Given the description of an element on the screen output the (x, y) to click on. 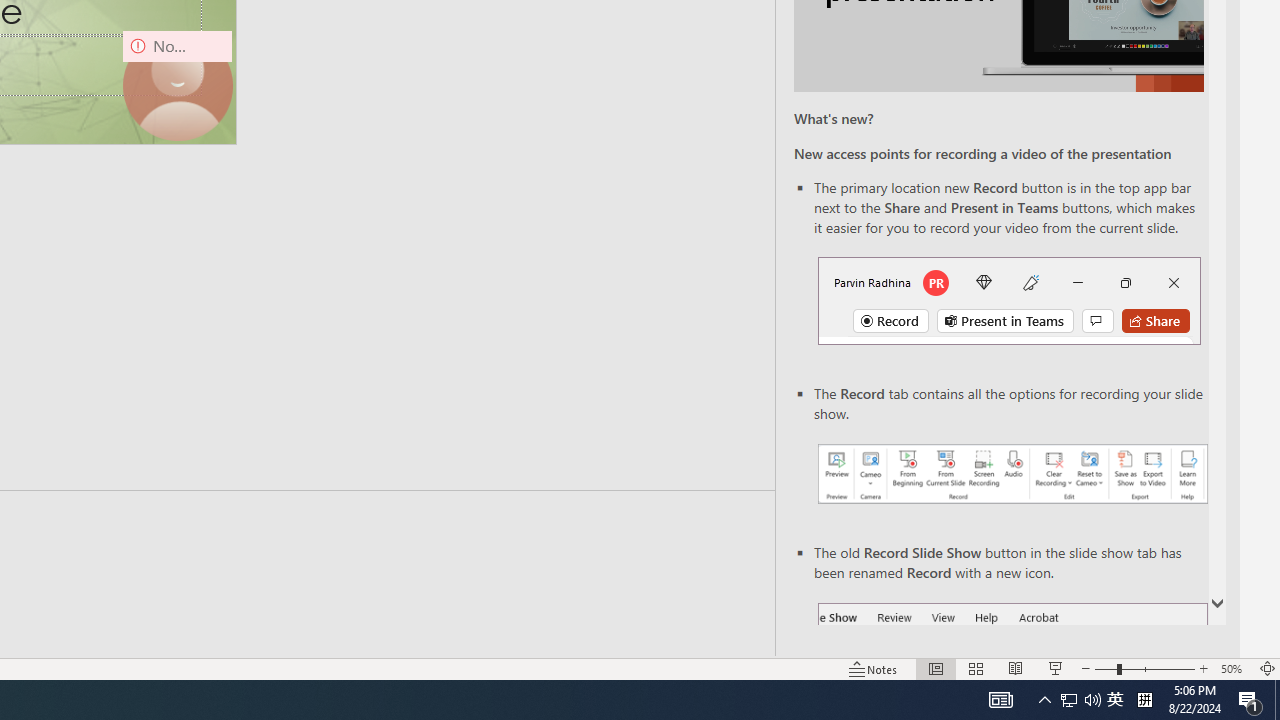
Record button in top bar (1008, 300)
Zoom 50% (1234, 668)
Record your presentations screenshot one (1012, 473)
